Given the description of an element on the screen output the (x, y) to click on. 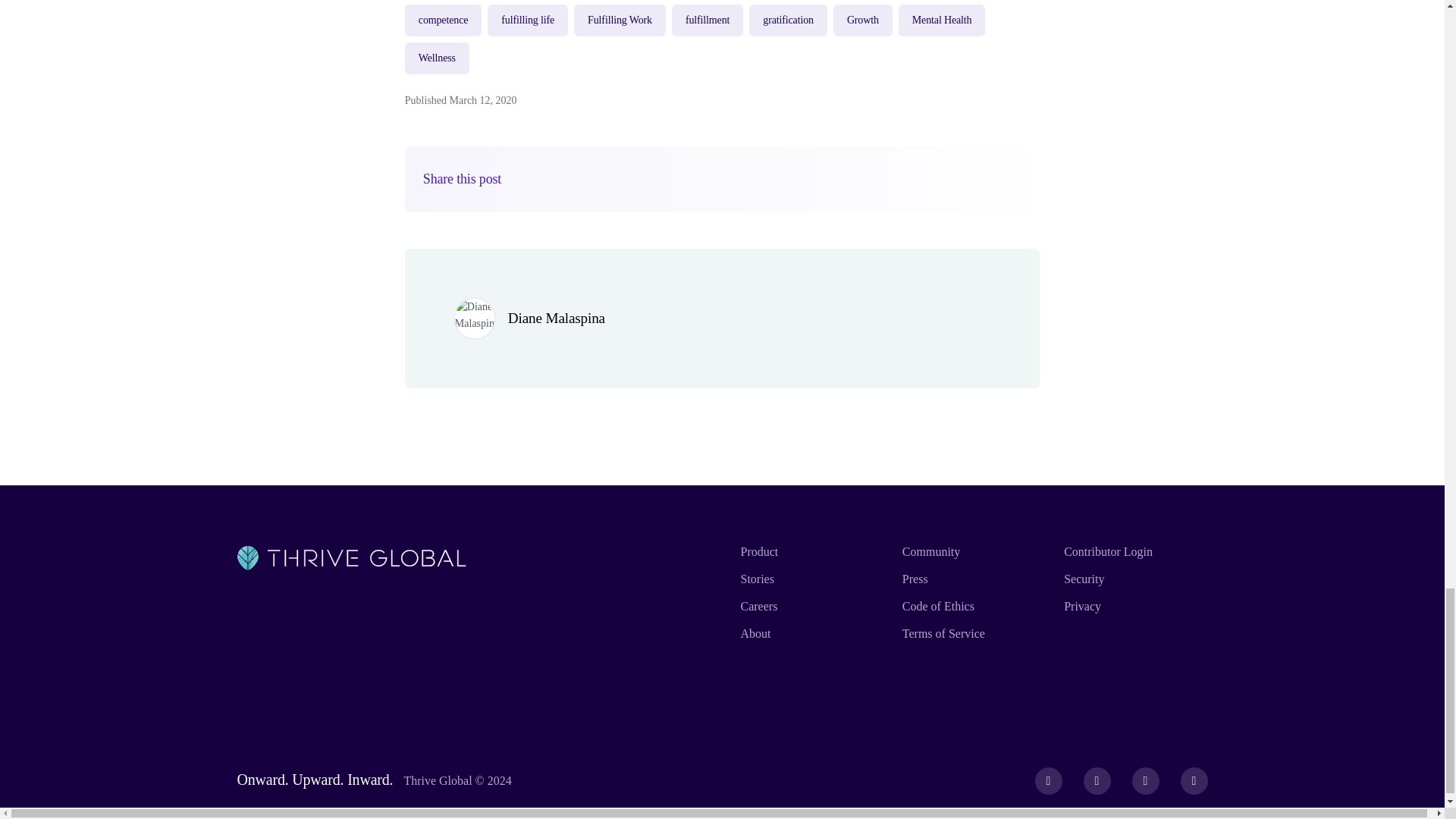
Instagram (1145, 780)
Diane Malaspina (556, 317)
LinkedIn (1194, 780)
Facebook (1048, 780)
Twitter (1096, 780)
